Given the description of an element on the screen output the (x, y) to click on. 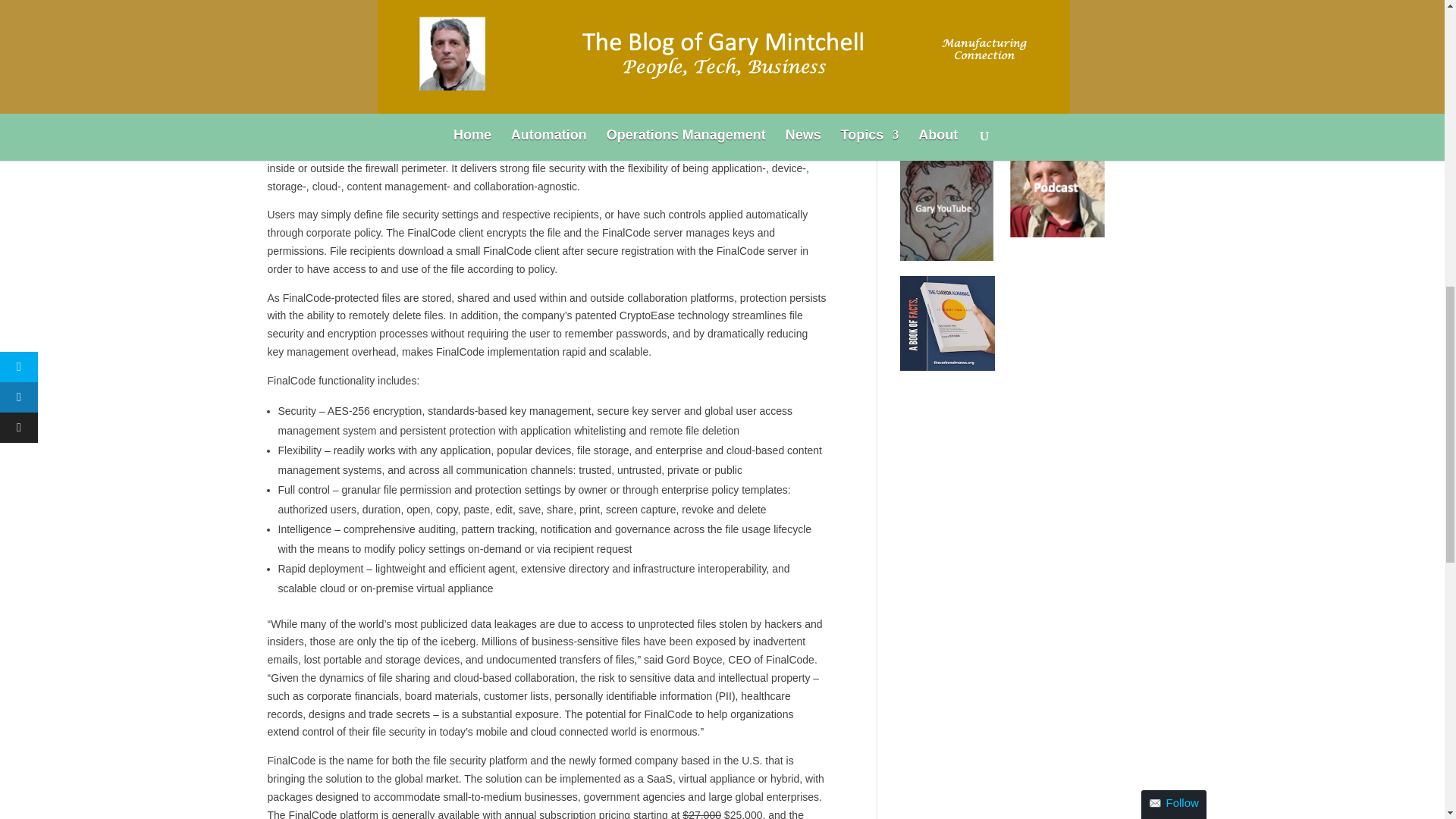
Subscribe me! (1251, 159)
